Given the description of an element on the screen output the (x, y) to click on. 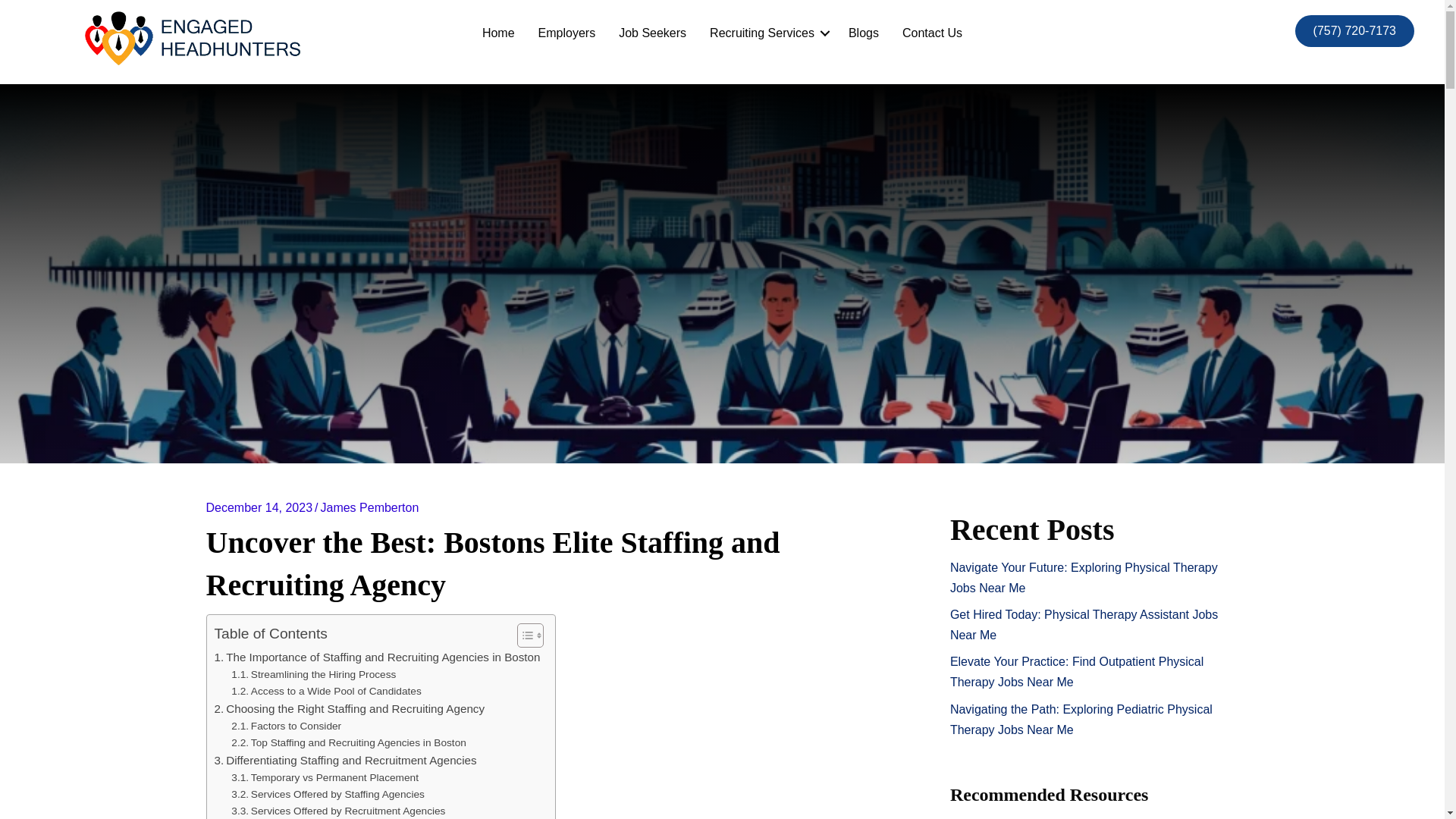
Differentiating Staffing and Recruitment Agencies (345, 760)
Temporary vs Permanent Placement (325, 777)
The Importance of Staffing and Recruiting Agencies in Boston (377, 657)
Streamlining the Hiring Process (313, 674)
Services Offered by Recruitment Agencies (338, 811)
James Pemberton (369, 506)
Access to a Wide Pool of Candidates (326, 691)
Choosing the Right Staffing and Recruiting Agency (349, 709)
Contact Us (932, 32)
Factors to Consider (285, 726)
Home (497, 32)
Factors to Consider (285, 726)
Choosing the Right Staffing and Recruiting Agency (349, 709)
Services Offered by Staffing Agencies (328, 794)
Blogs (863, 32)
